Given the description of an element on the screen output the (x, y) to click on. 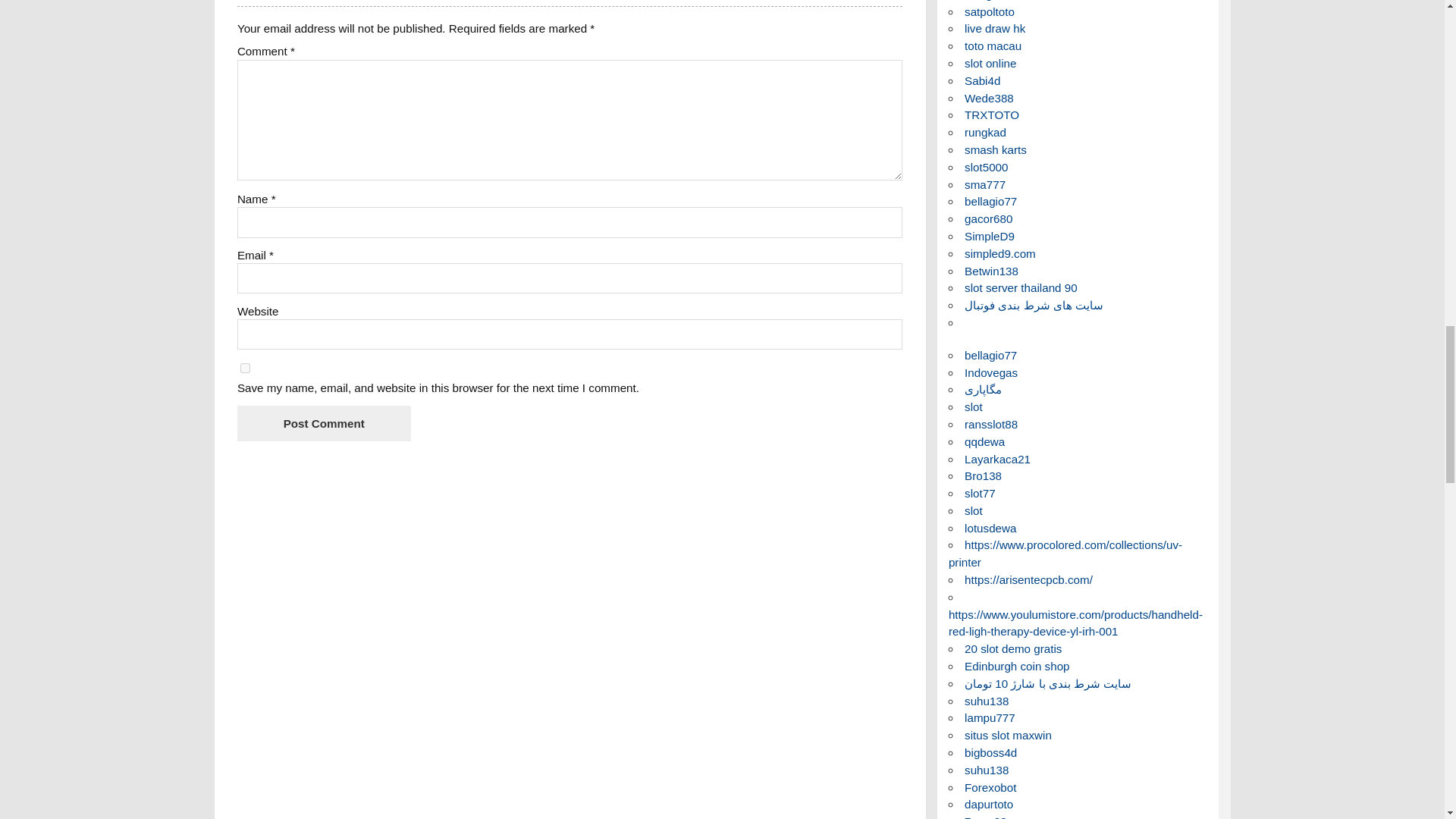
yes (245, 368)
Post Comment (323, 423)
Post Comment (323, 423)
